Given the description of an element on the screen output the (x, y) to click on. 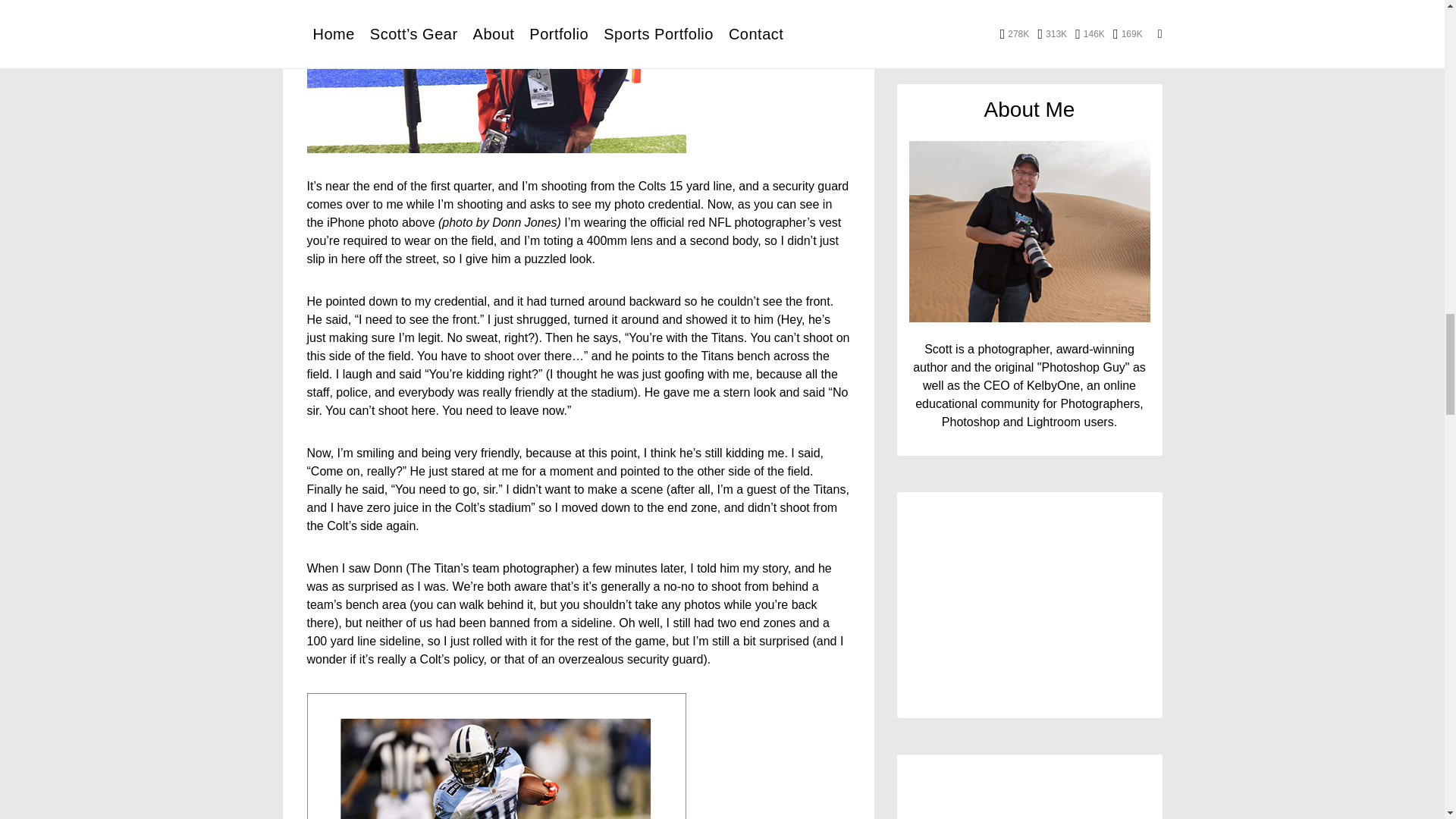
ColtTitans5sm (495, 755)
Submit (1028, 268)
photo2sm (495, 76)
